Given the description of an element on the screen output the (x, y) to click on. 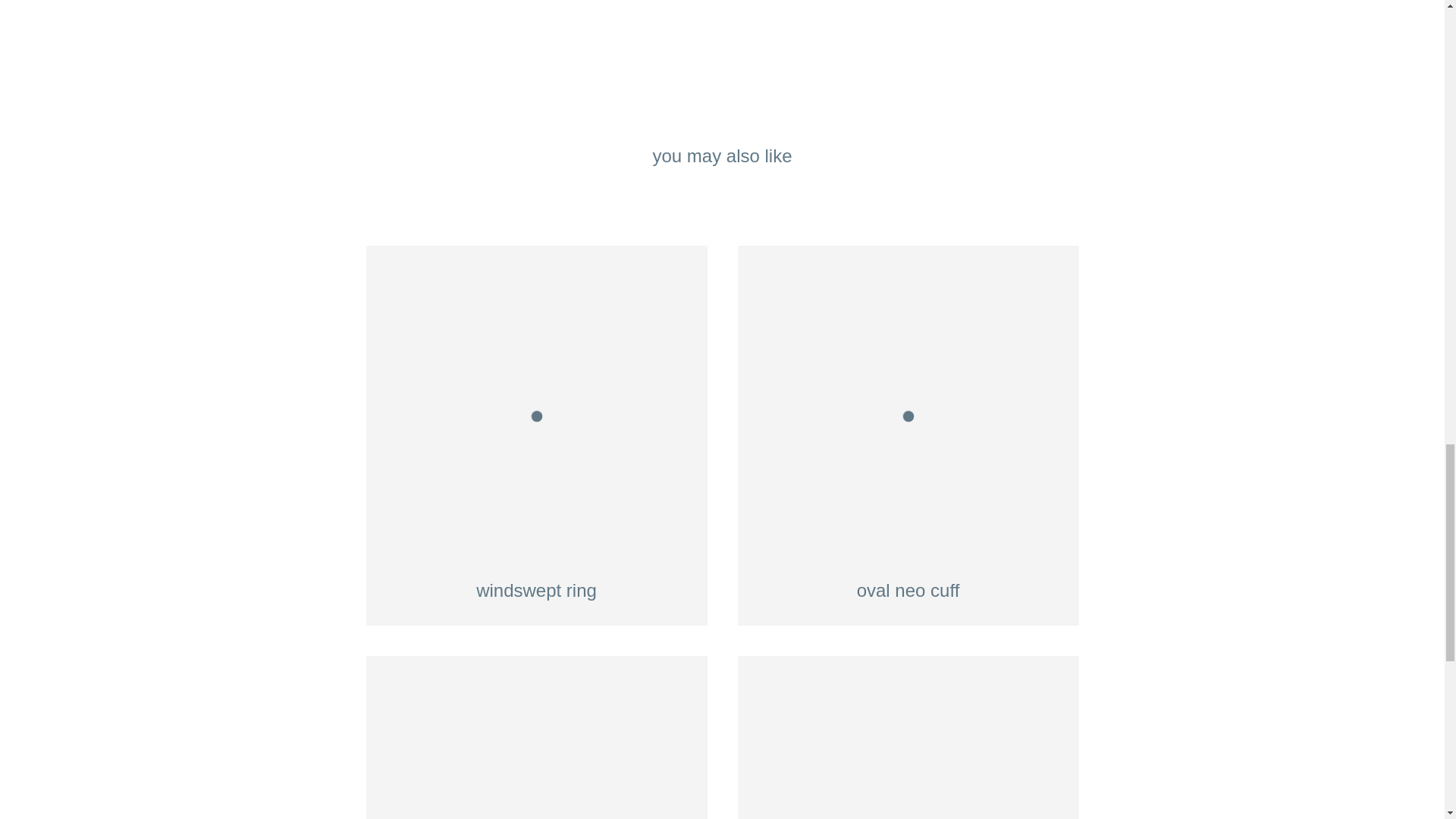
windswept ring (535, 435)
oval neo cuff (907, 435)
